Given the description of an element on the screen output the (x, y) to click on. 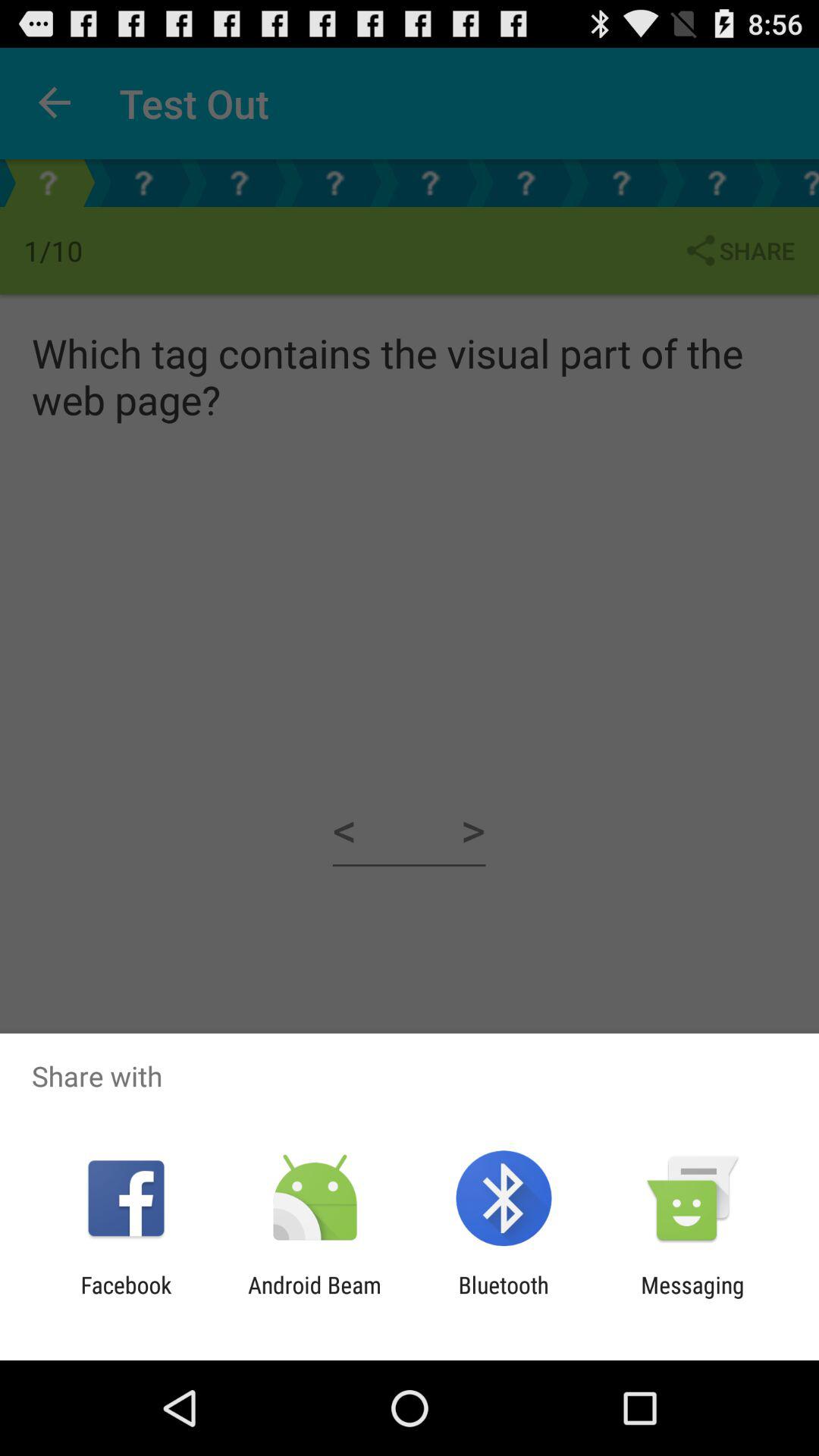
click the facebook item (125, 1298)
